Given the description of an element on the screen output the (x, y) to click on. 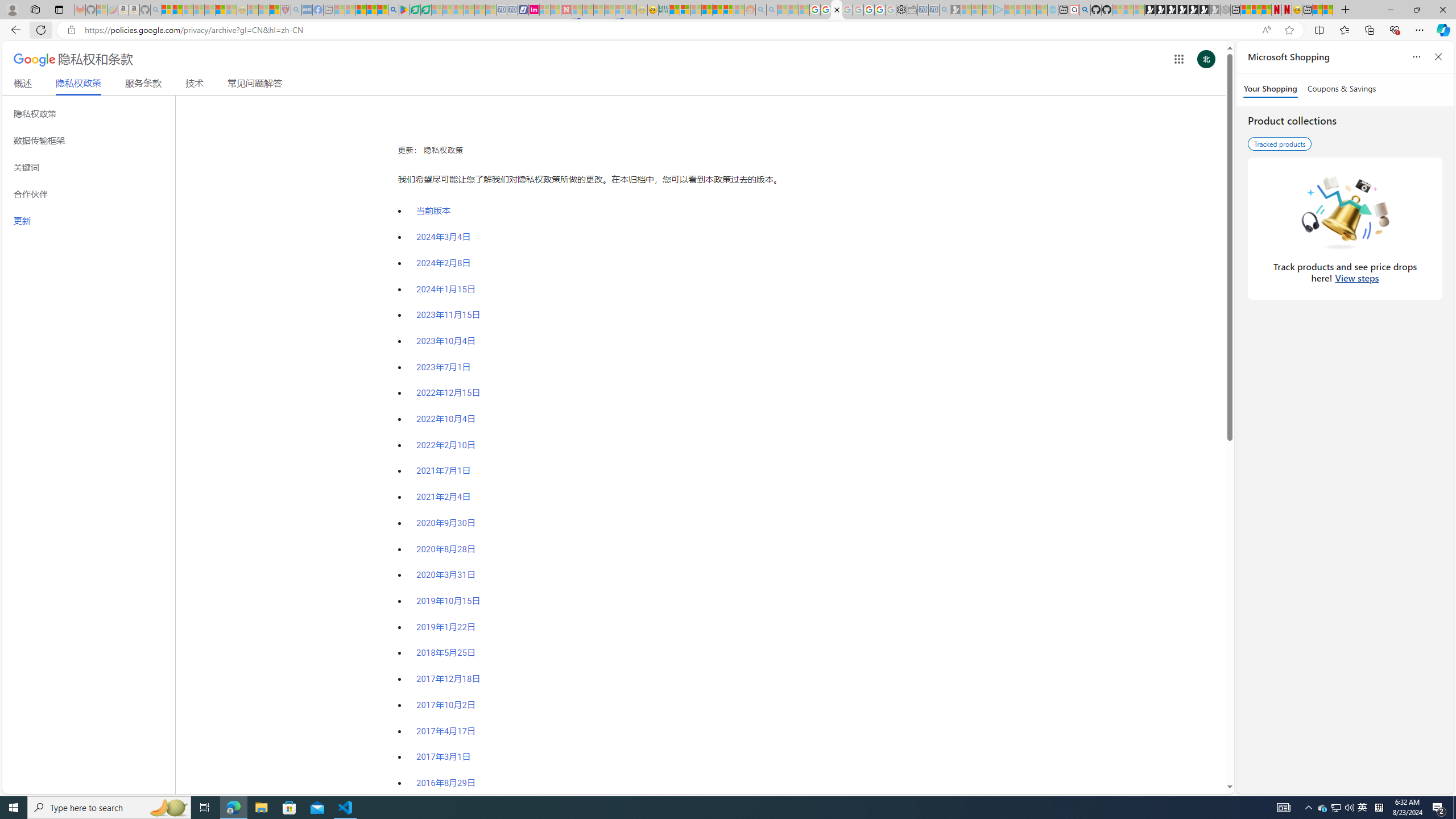
Local - MSN (274, 9)
Terms of Use Agreement (414, 9)
